Given the description of an element on the screen output the (x, y) to click on. 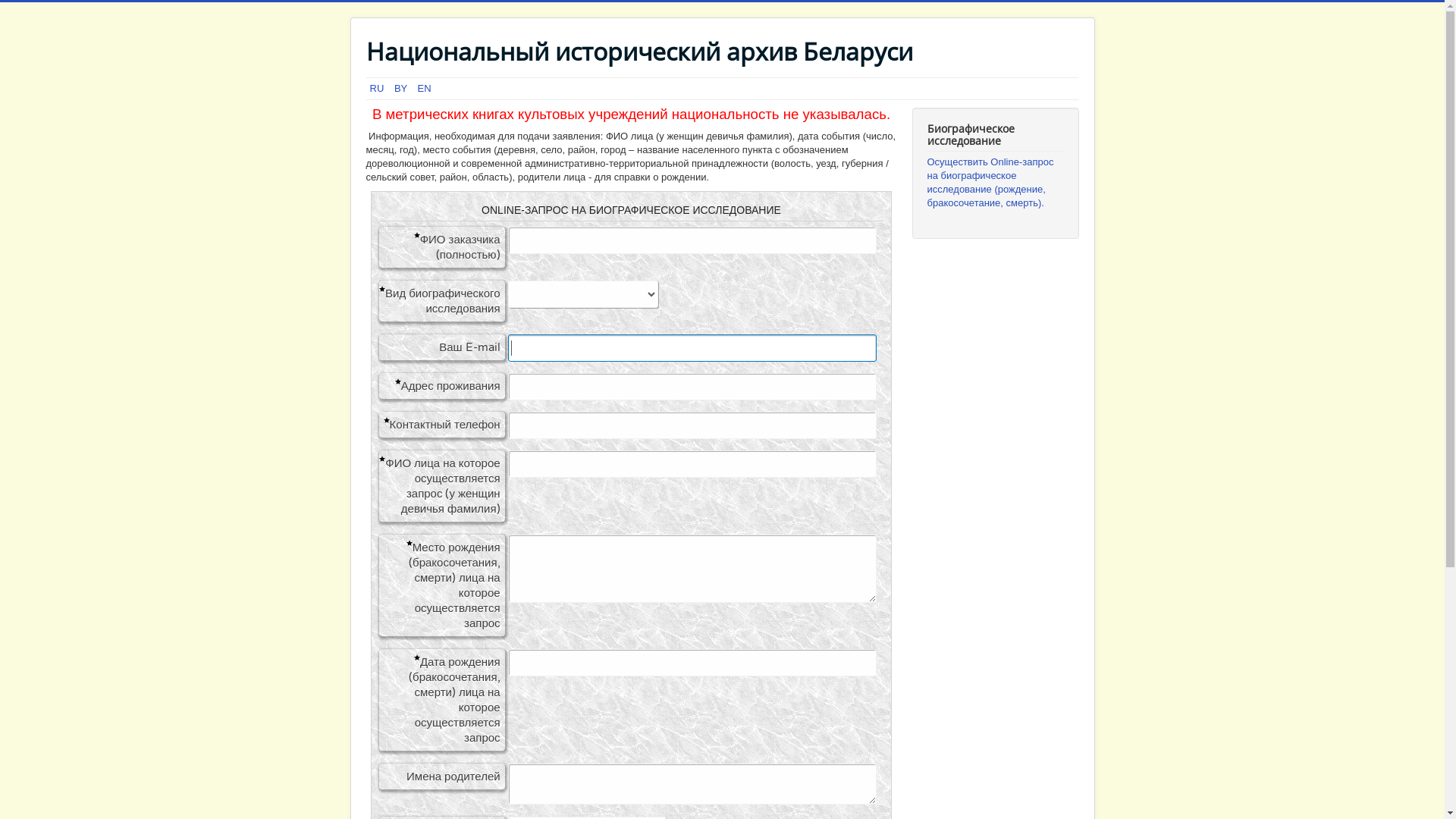
EN Element type: text (424, 88)
BY Element type: text (402, 88)
RU Element type: text (378, 88)
